Given the description of an element on the screen output the (x, y) to click on. 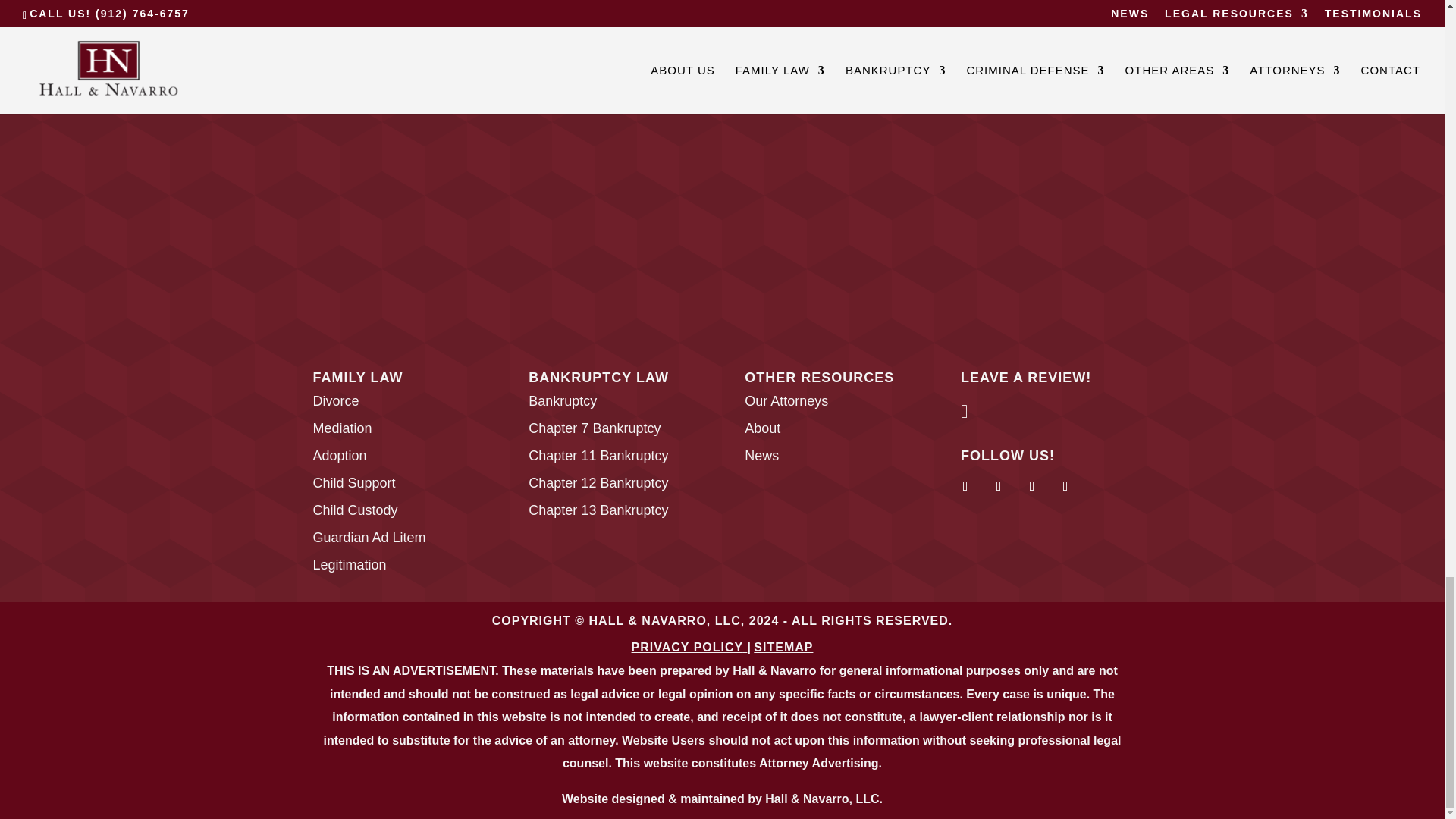
Divorce Process Timeline in Georgia (964, 412)
Follow on TikTok (1064, 485)
Follow on LinkedIn (1031, 485)
Follow on Instagram (998, 485)
Follow on Facebook (965, 485)
2024 Badges (721, 171)
